Given the description of an element on the screen output the (x, y) to click on. 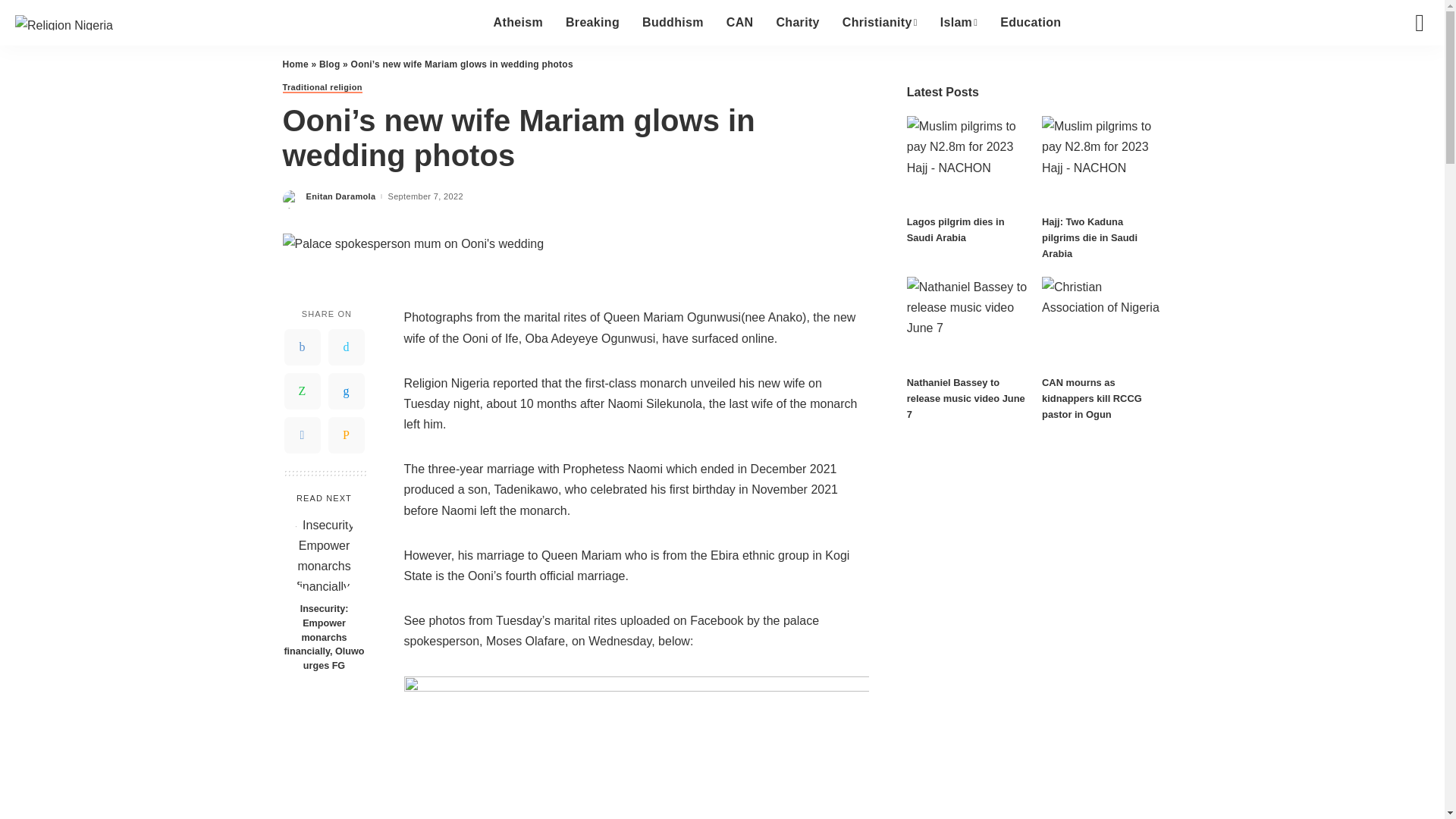
CAN (739, 22)
Charity (796, 22)
Breaking (592, 22)
Religion Nigeria (63, 22)
Atheism (517, 22)
Buddhism (672, 22)
